Given the description of an element on the screen output the (x, y) to click on. 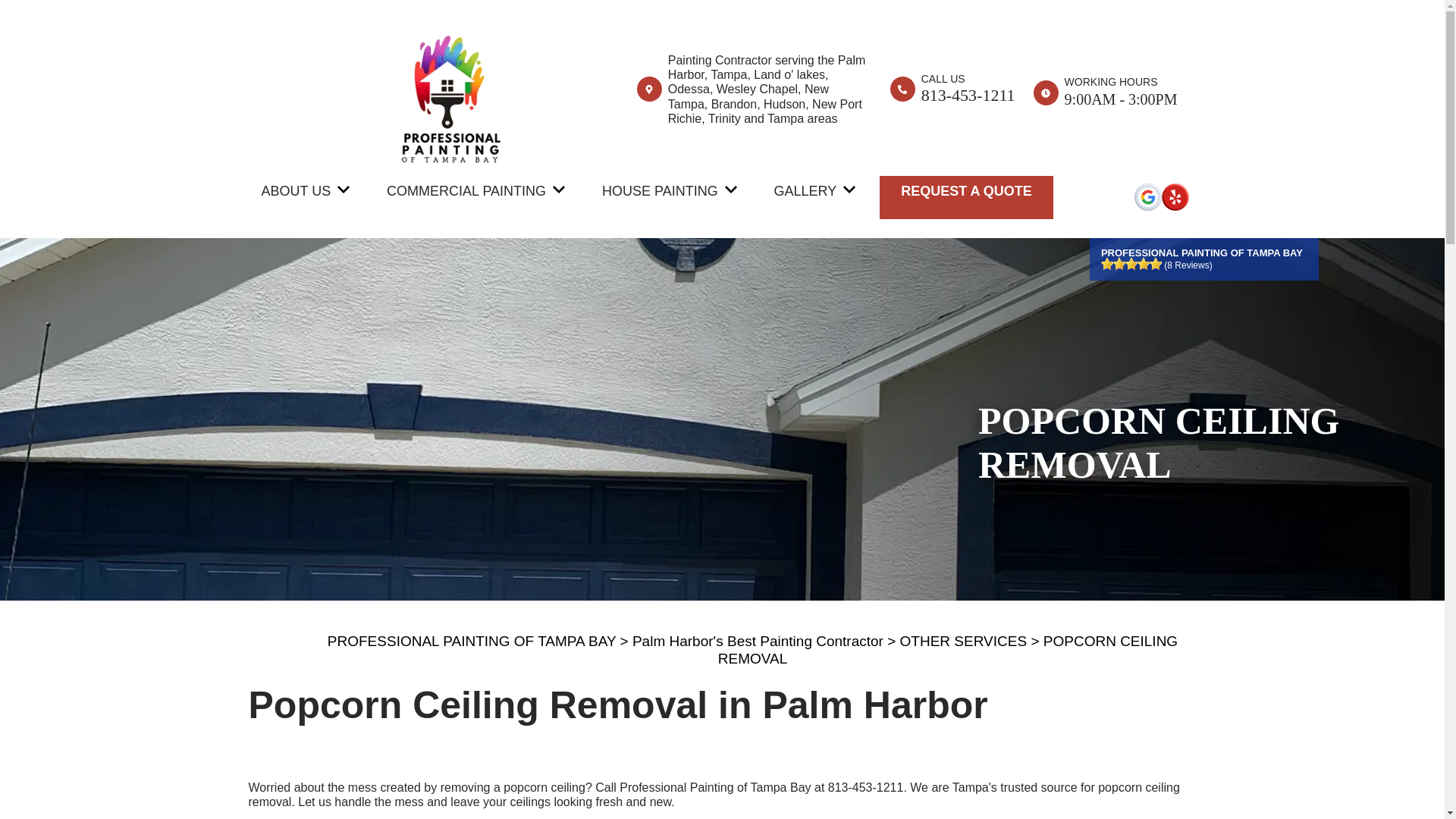
Palm Harbor's Best Painting Contractor (757, 641)
COMMERCIAL PAINTING (466, 191)
HOUSE PAINTING (659, 191)
ABOUT US (295, 191)
PROFESSIONAL PAINTING OF TAMPA BAY (471, 641)
813-453-1211 (866, 787)
REQUEST A QUOTE (966, 191)
POPCORN CEILING REMOVAL (947, 649)
GALLERY (805, 191)
OTHER SERVICES (963, 641)
813-453-1211 (967, 94)
